Given the description of an element on the screen output the (x, y) to click on. 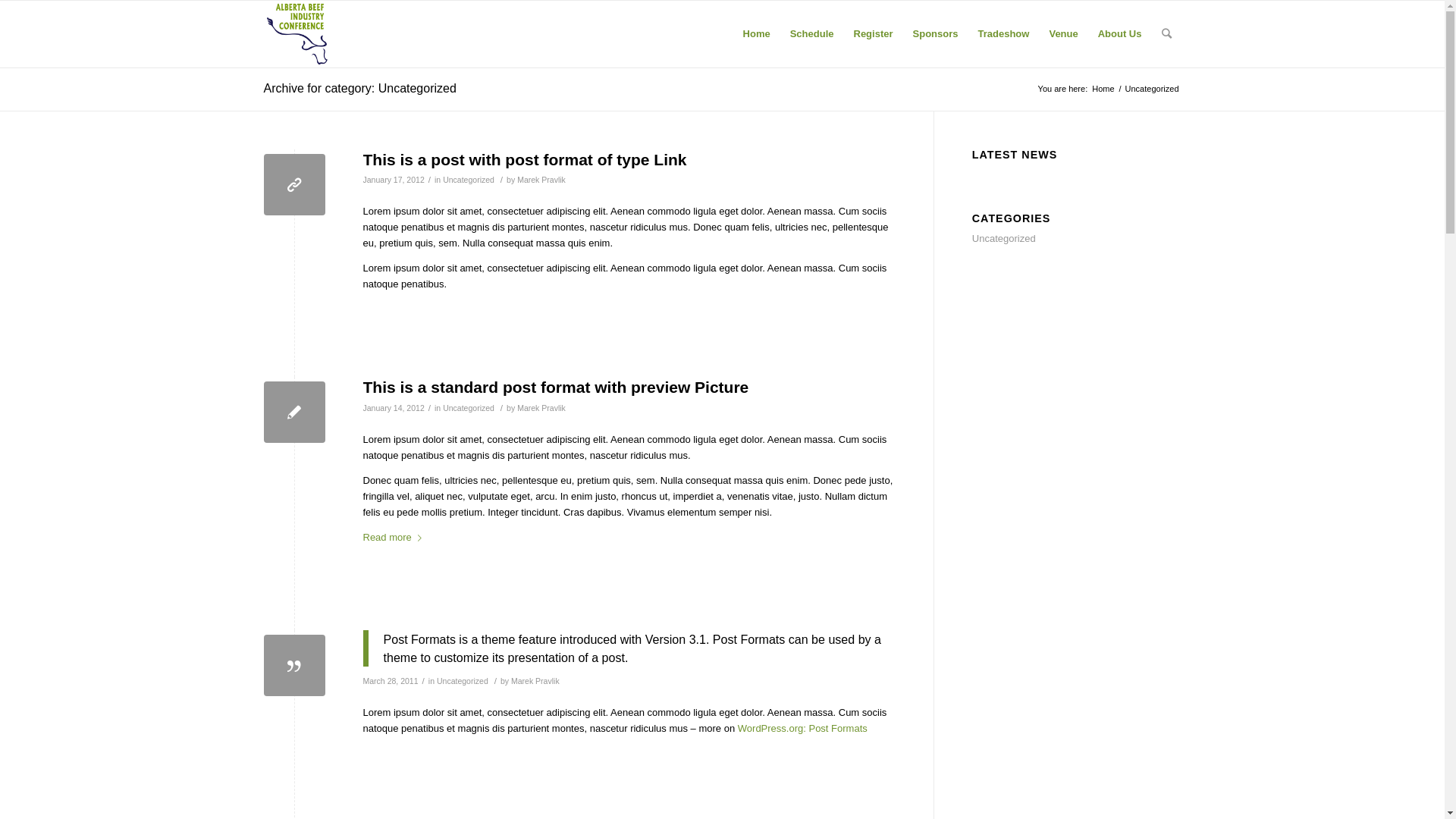
This is a post  with post format of type Link Element type: hover (294, 184)
WordPress.org: Post Formats Element type: text (802, 728)
Schedule Element type: text (812, 33)
Venue Element type: text (1062, 33)
Tradeshow Element type: text (1002, 33)
This is a standard post format with preview Picture Element type: text (555, 386)
Sponsors Element type: text (935, 33)
This is a post with post format of type Link Element type: text (524, 159)
Marek Pravlik Element type: text (541, 179)
Register Element type: text (872, 33)
Uncategorized Element type: text (462, 680)
Archive for category: Uncategorized Element type: text (359, 87)
Uncategorized Element type: text (1003, 238)
Read more Element type: text (394, 537)
About Us Element type: text (1119, 33)
Home Element type: text (756, 33)
Marek Pravlik Element type: text (541, 407)
This is a standard post format with preview Picture Element type: hover (294, 411)
Uncategorized Element type: text (468, 407)
Home Element type: text (1102, 88)
Uncategorized Element type: text (468, 179)
Marek Pravlik Element type: text (535, 680)
